Given the description of an element on the screen output the (x, y) to click on. 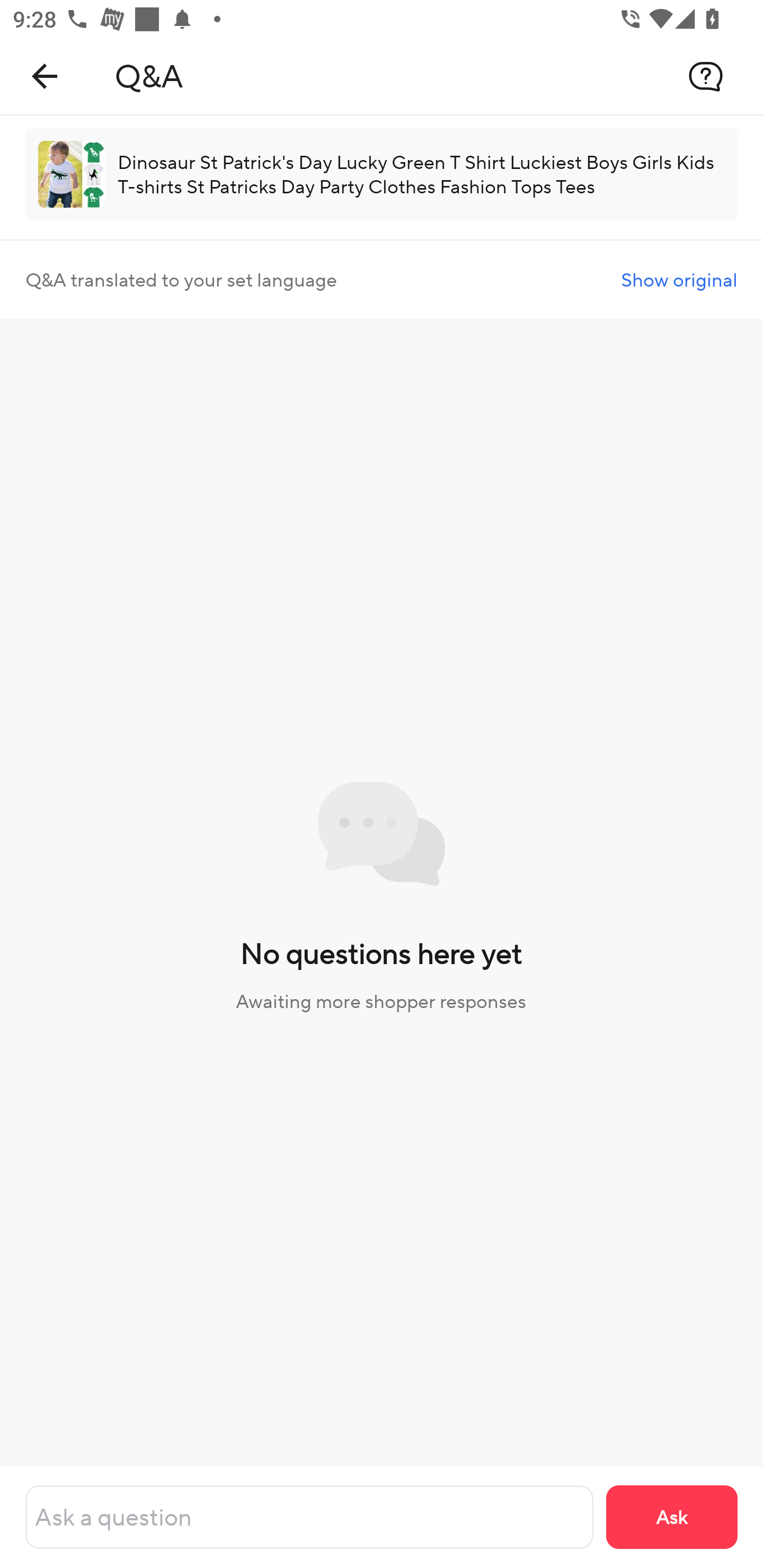
Navigate up (44, 75)
Show original (679, 279)
Ask a question (309, 1516)
Ask (671, 1516)
